Given the description of an element on the screen output the (x, y) to click on. 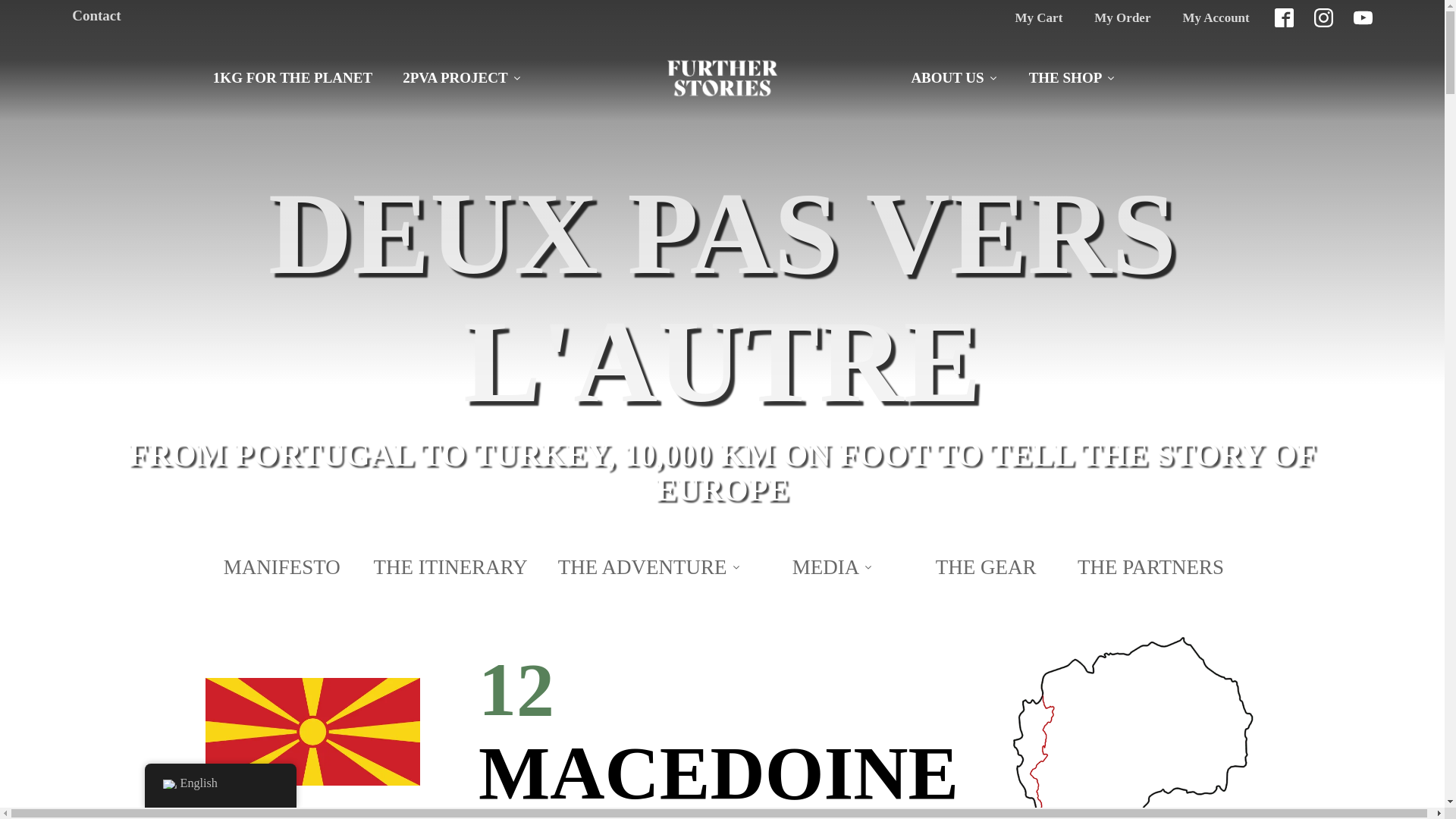
My Order (1122, 17)
Contact (95, 15)
My Account (1214, 17)
English (168, 783)
My Cart (1039, 17)
